Given the description of an element on the screen output the (x, y) to click on. 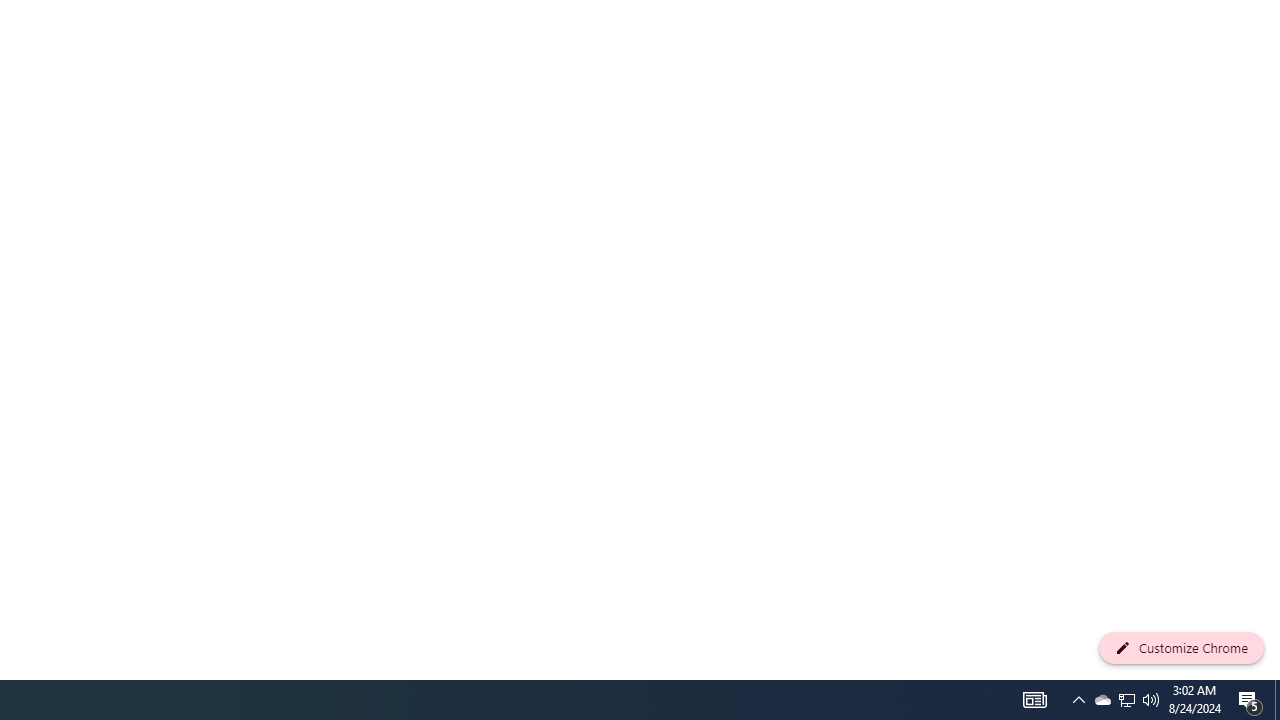
Customize Chrome (1181, 647)
